Given the description of an element on the screen output the (x, y) to click on. 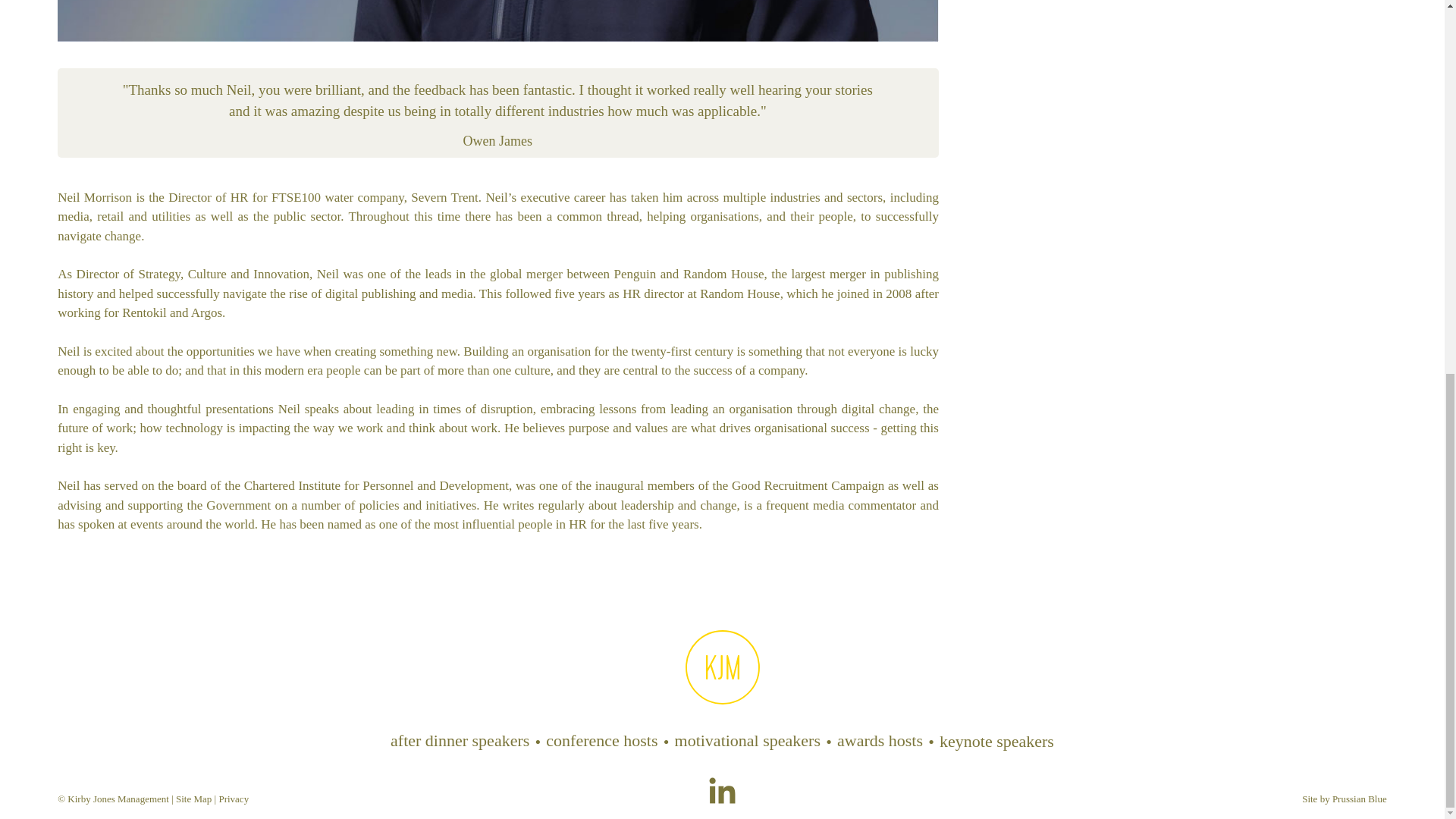
Site Map (193, 798)
Prussian Blue (1359, 798)
Privacy (233, 798)
